Given the description of an element on the screen output the (x, y) to click on. 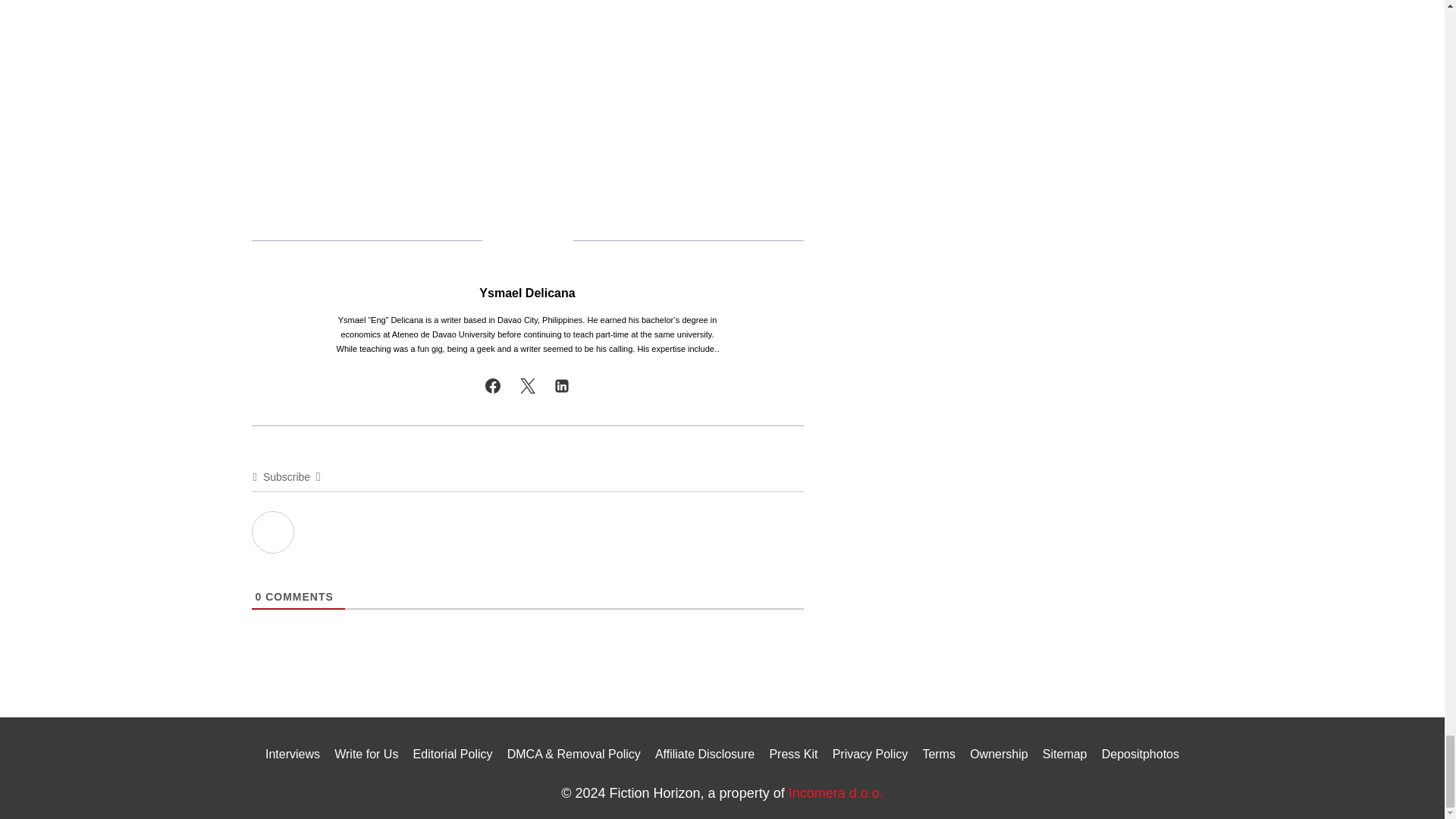
Incomera d.o.o. (836, 792)
Follow Ysmael Delicana on Facebook (492, 386)
Follow Ysmael Delicana on X formerly Twitter (527, 386)
Posts by Ysmael Delicana (527, 292)
Follow Ysmael Delicana on Linkedin (561, 386)
